Given the description of an element on the screen output the (x, y) to click on. 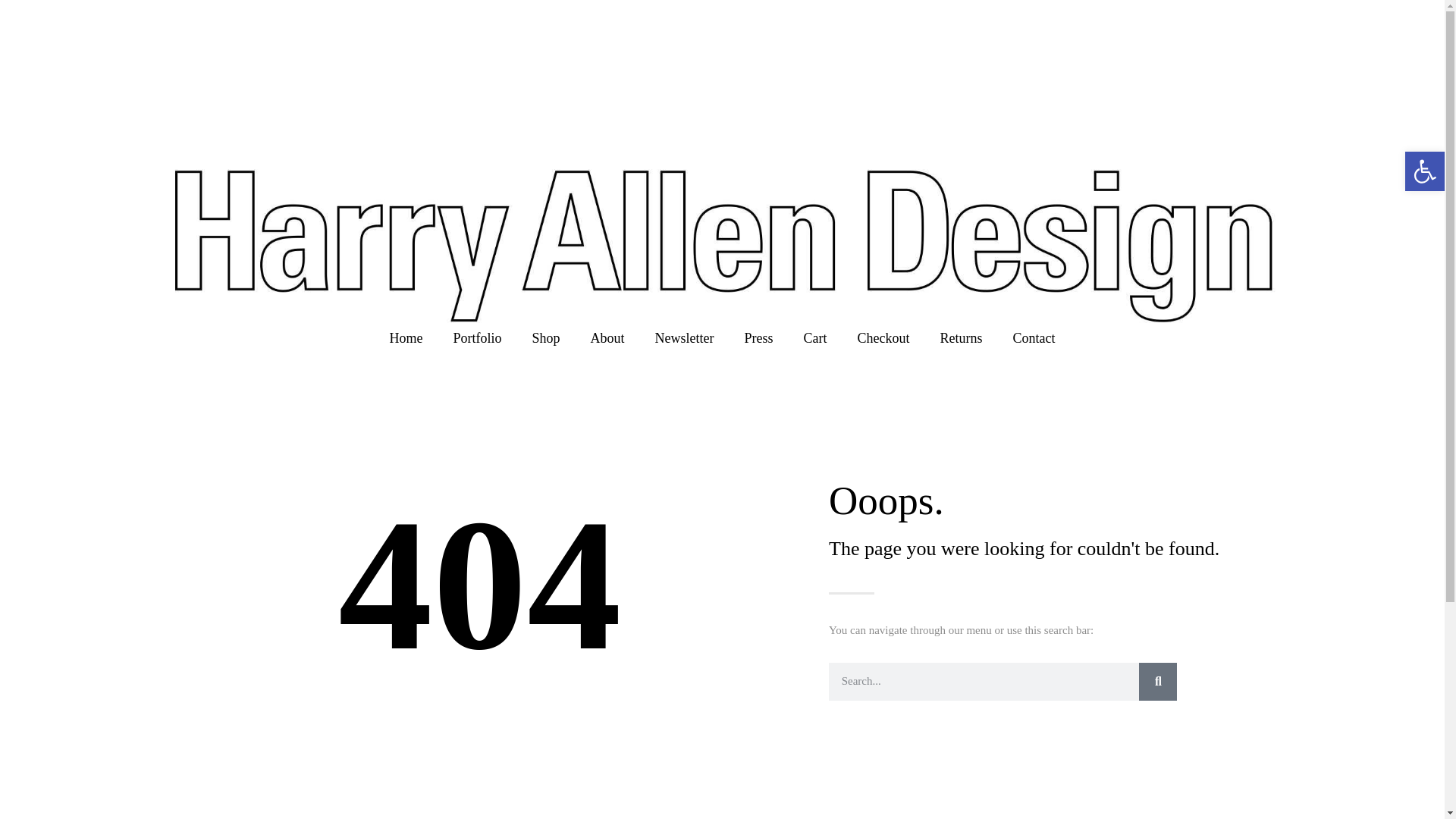
Contact (1033, 338)
About (607, 338)
Cart (816, 338)
Home (406, 338)
Portfolio (477, 338)
Shop (545, 338)
Newsletter (684, 338)
Returns (960, 338)
Accessibility Tools (1424, 170)
Checkout (882, 338)
